Given the description of an element on the screen output the (x, y) to click on. 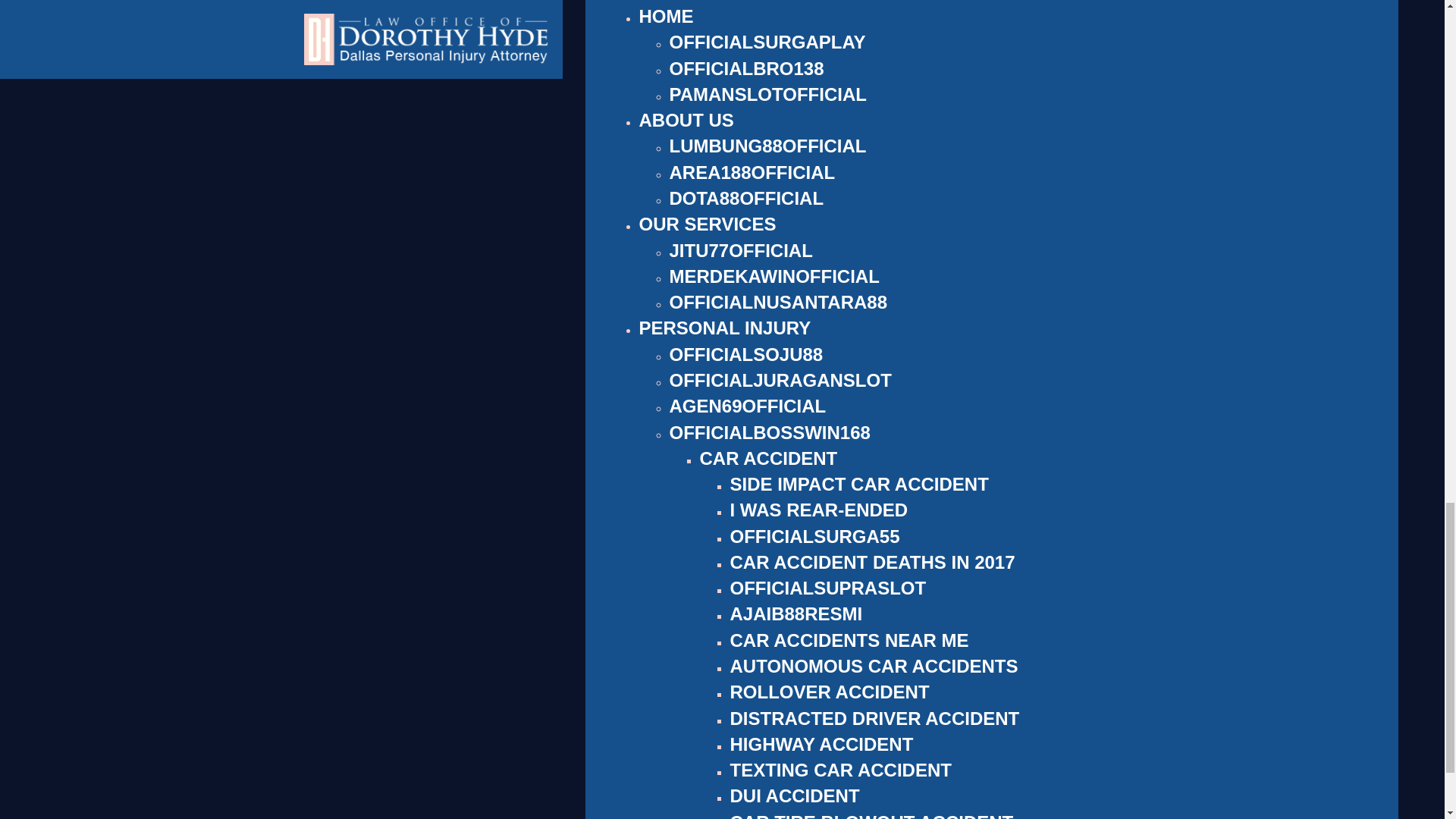
Dallas car accident attorney (529, 279)
Privacy (1047, 365)
Submit (997, 420)
1 (975, 320)
Disclaimer (1006, 350)
